Given the description of an element on the screen output the (x, y) to click on. 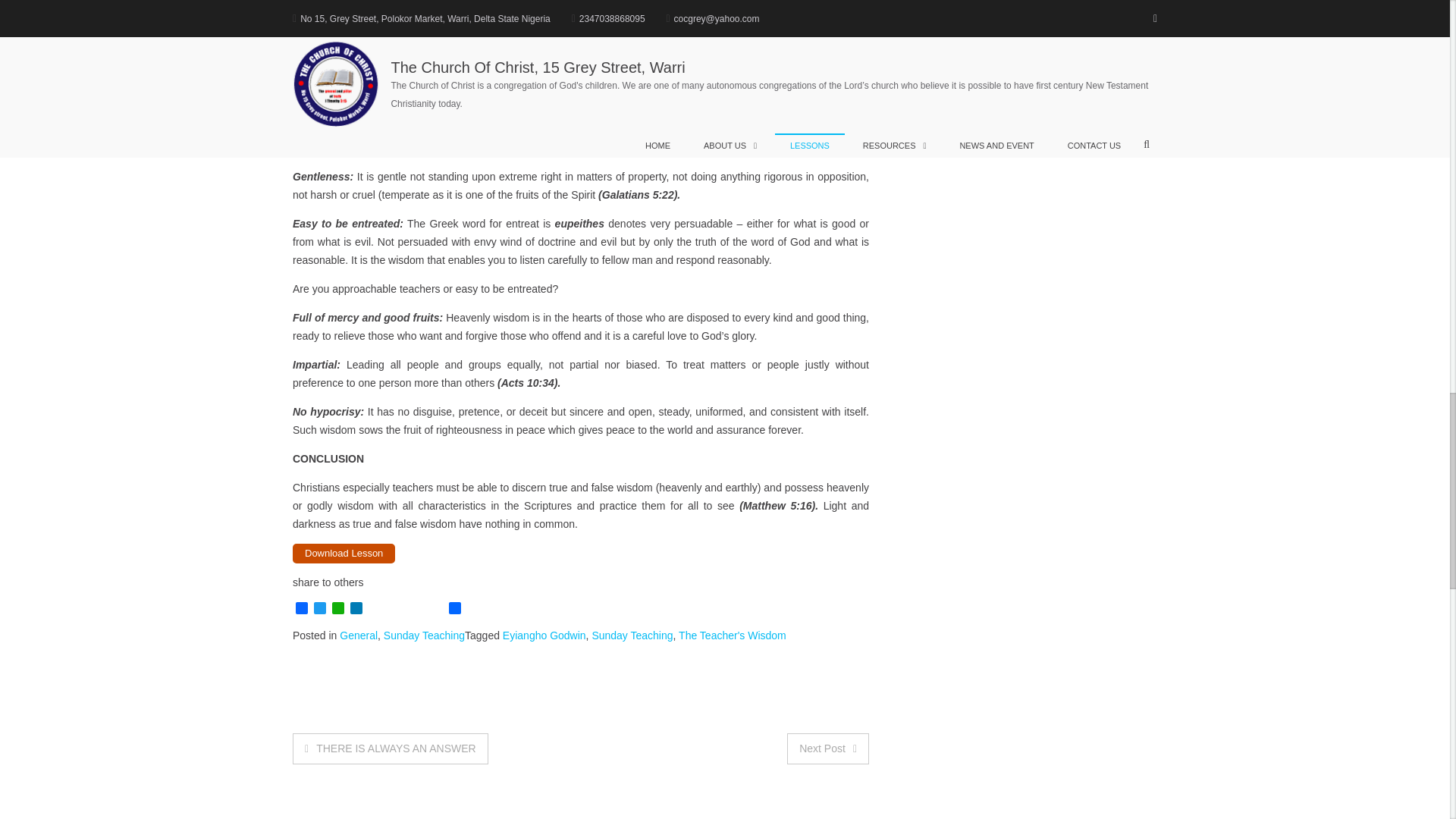
Facebook (301, 608)
LinkedIn (356, 608)
Twitter (320, 608)
Sunday Teaching (424, 635)
Download Lesson (343, 553)
LinkedIn (356, 608)
General (358, 635)
WhatsApp (338, 608)
Download Lesson (343, 553)
Twitter (320, 608)
